Given the description of an element on the screen output the (x, y) to click on. 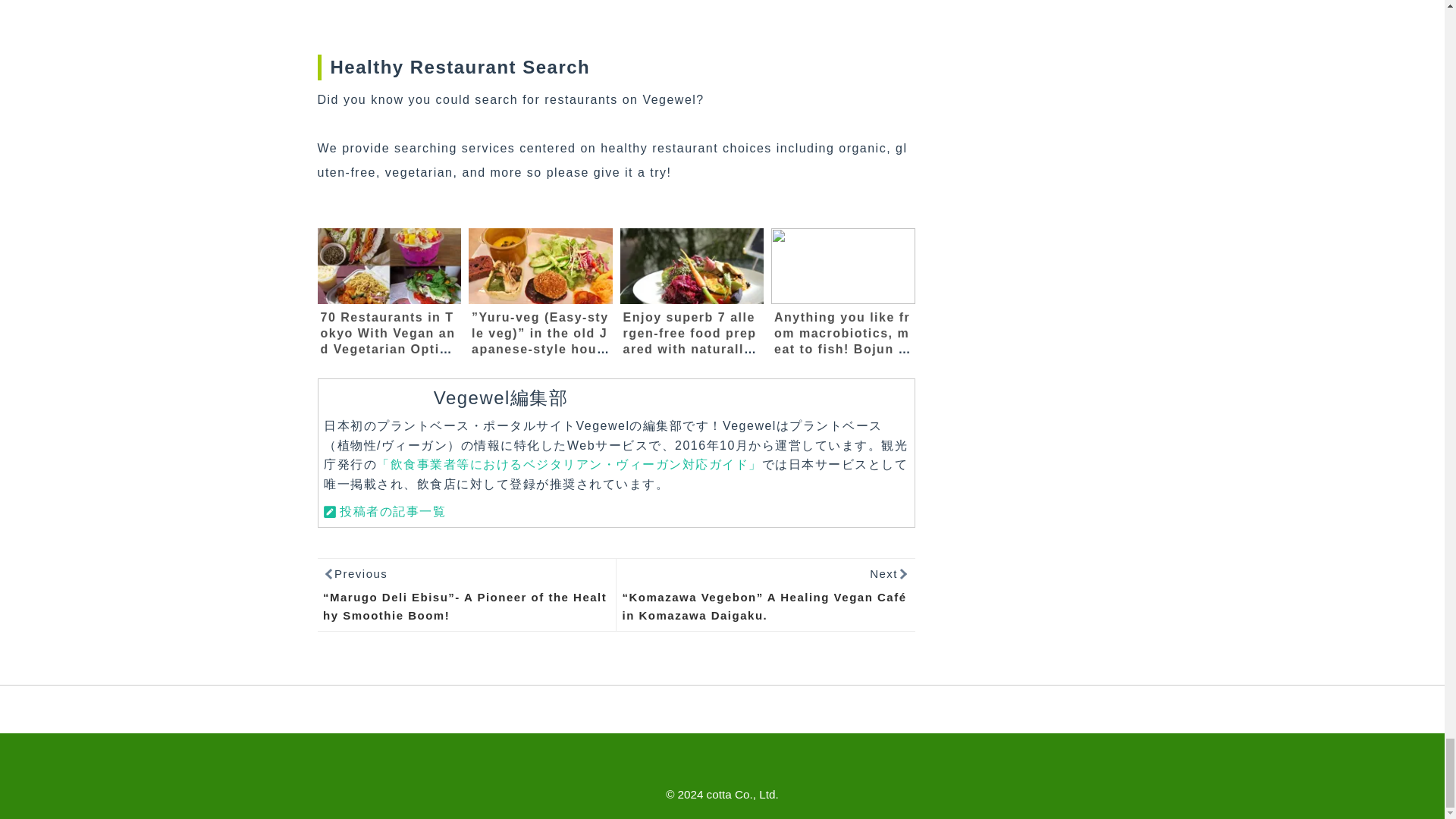
70 Restaurants in Tokyo With Vegan and Vegetarian Options (389, 264)
70 Restaurants in Tokyo With Vegan and Vegetarian Options (388, 341)
70 Restaurants in Tokyo With Vegan and Vegetarian Options (388, 341)
